Given the description of an element on the screen output the (x, y) to click on. 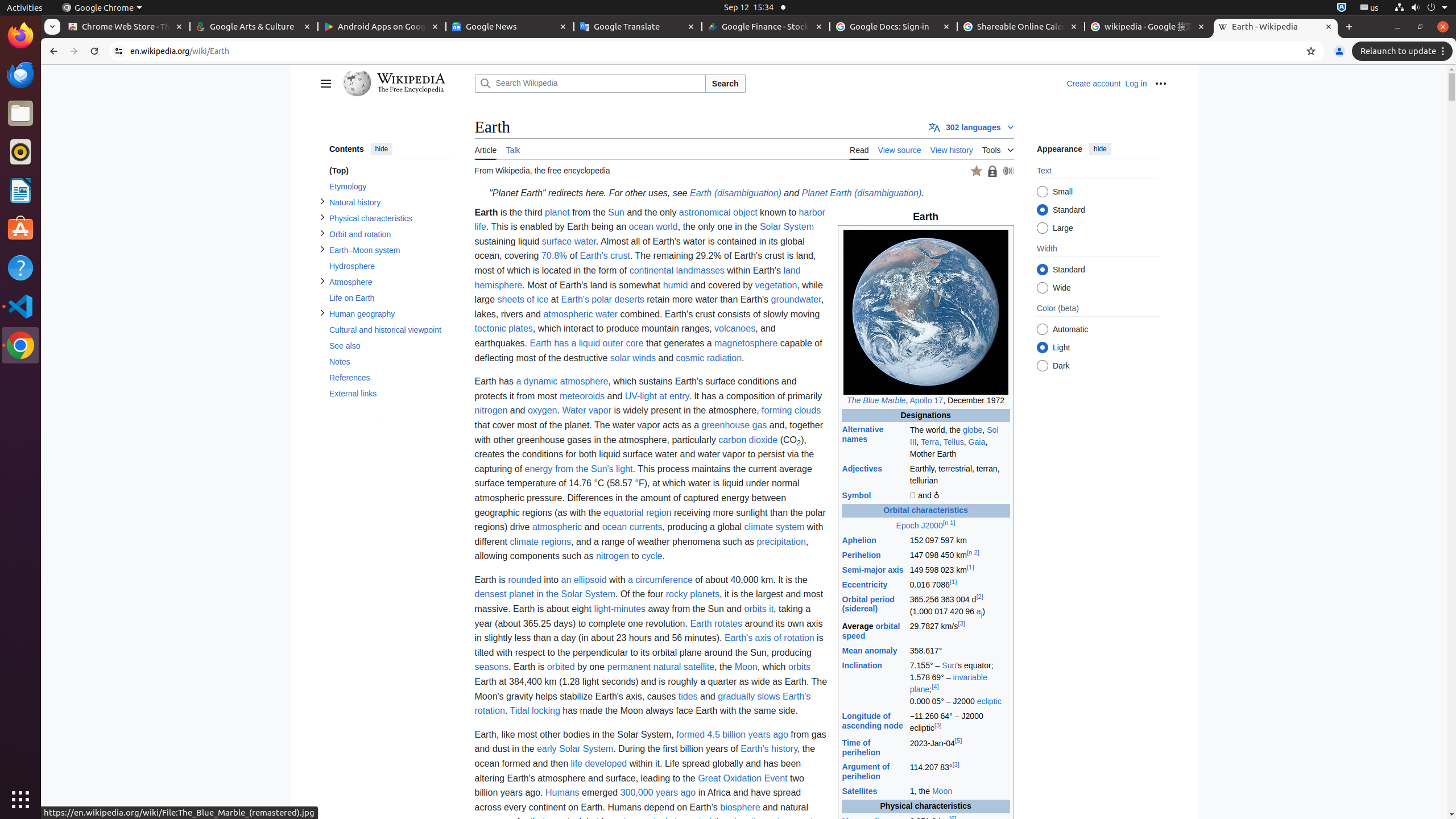
Notes Element type: link (390, 361)
surface water Element type: link (568, 241)
Small Element type: radio-button (1042, 191)
Relaunch to update Element type: push-button (1403, 50)
densest planet in the Solar System Element type: link (544, 594)
